Given the description of an element on the screen output the (x, y) to click on. 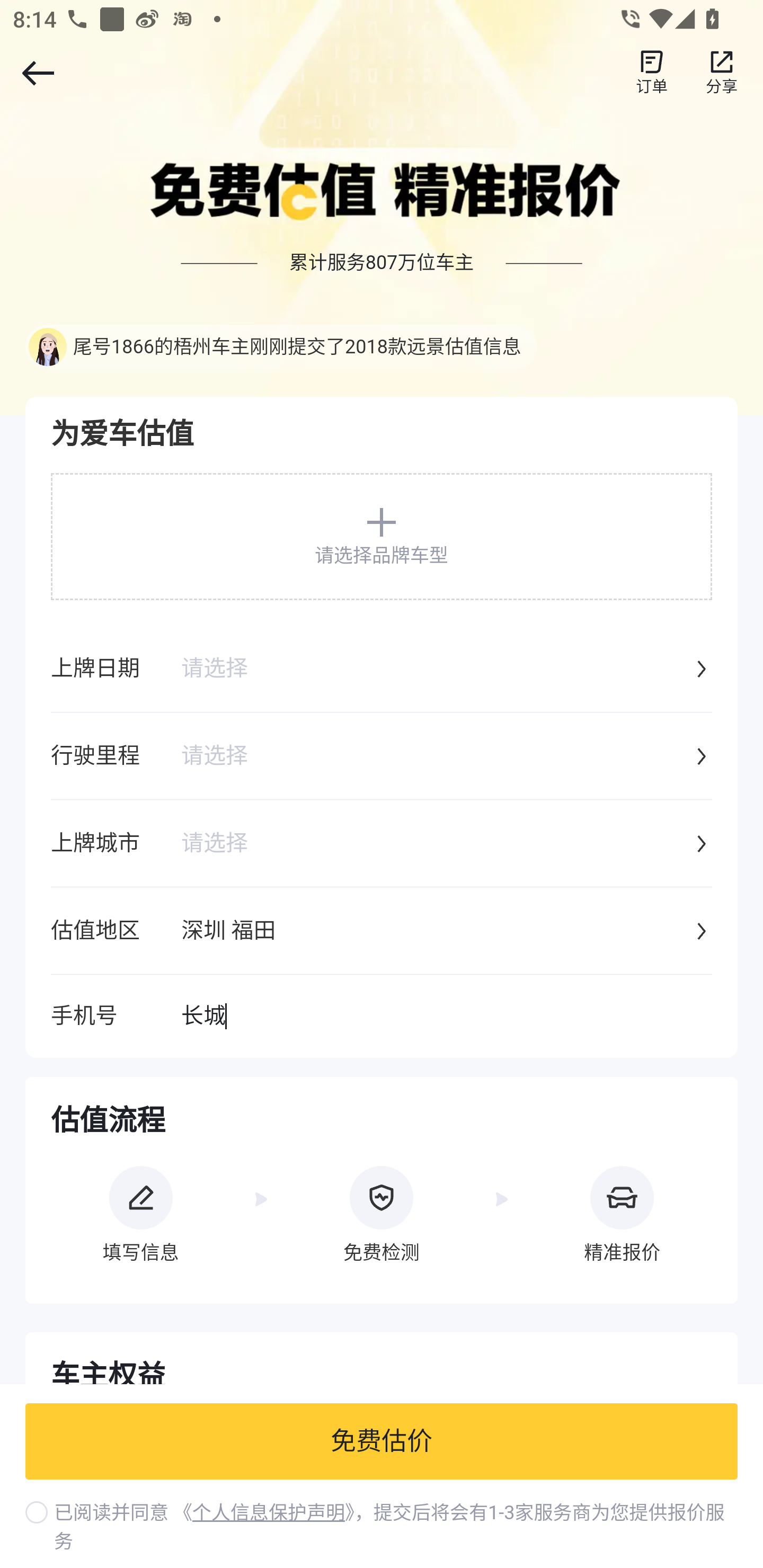
订单 (651, 72)
分享 (721, 72)
请选择品牌车型 (381, 535)
请选择 (435, 669)
请选择 (435, 757)
请选择 (435, 844)
深圳 福田 (435, 932)
长城 (446, 1016)
免费估价 (381, 1441)
个人信息保护声明 (267, 1513)
